Given the description of an element on the screen output the (x, y) to click on. 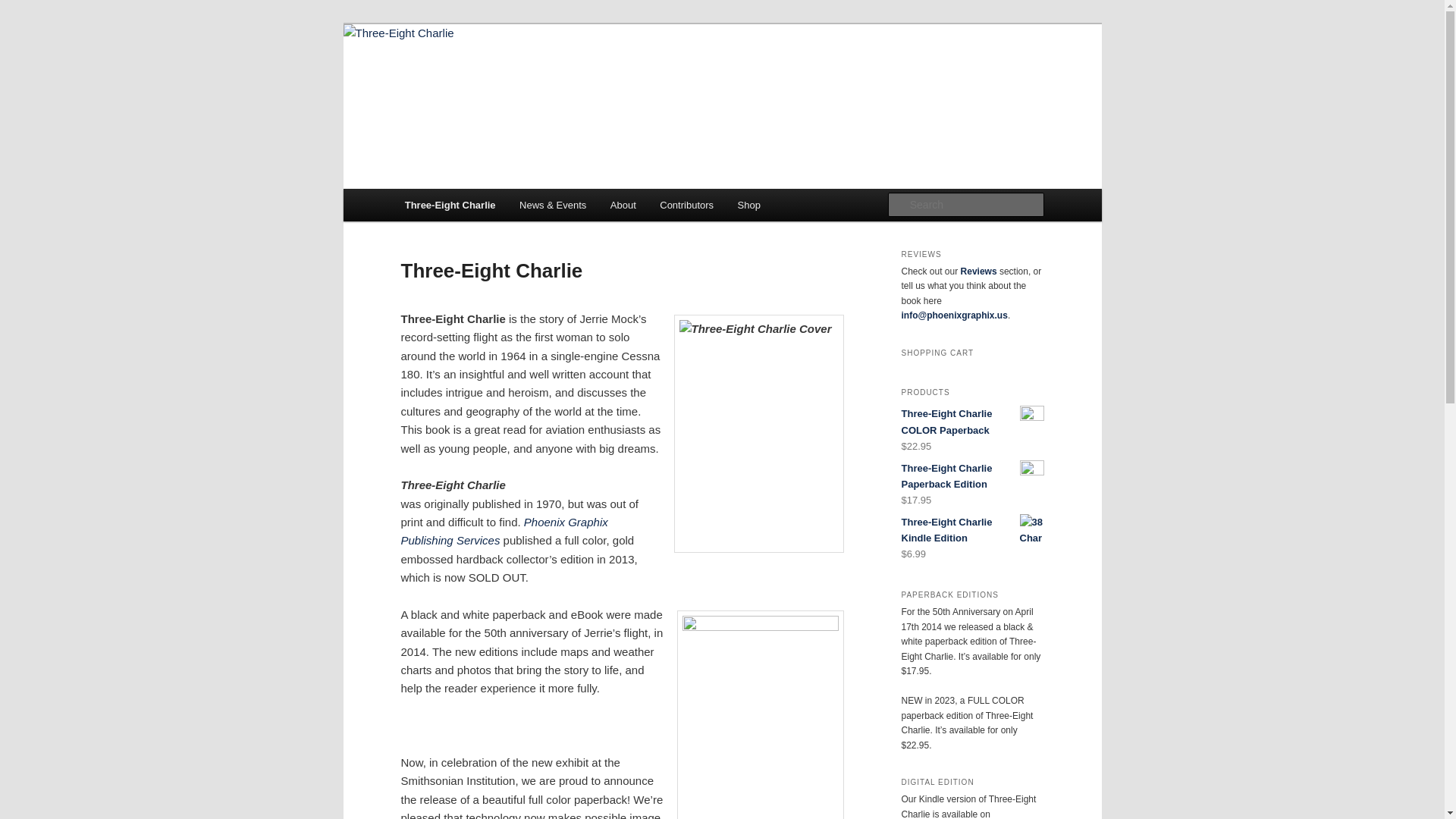
Shop Element type: text (748, 204)
Three-Eight Charlie Element type: text (449, 204)
News & Events Element type: text (552, 204)
Services Element type: text (478, 539)
Three-Eight Charlie Element type: text (505, 78)
info@phoenixgraphix.us Element type: text (953, 315)
Three-Eight Charlie COLOR Paperback Element type: text (971, 421)
Skip to primary content Element type: text (22, 22)
About Element type: text (622, 204)
Reviews Element type: text (978, 271)
Three-Eight Charlie Kindle Edition Element type: text (971, 530)
Search Element type: text (24, 8)
Contributors Element type: text (685, 204)
Three-Eight Charlie Paperback Edition Element type: text (971, 476)
Phoenix Graphix Publishing Element type: text (503, 530)
